Given the description of an element on the screen output the (x, y) to click on. 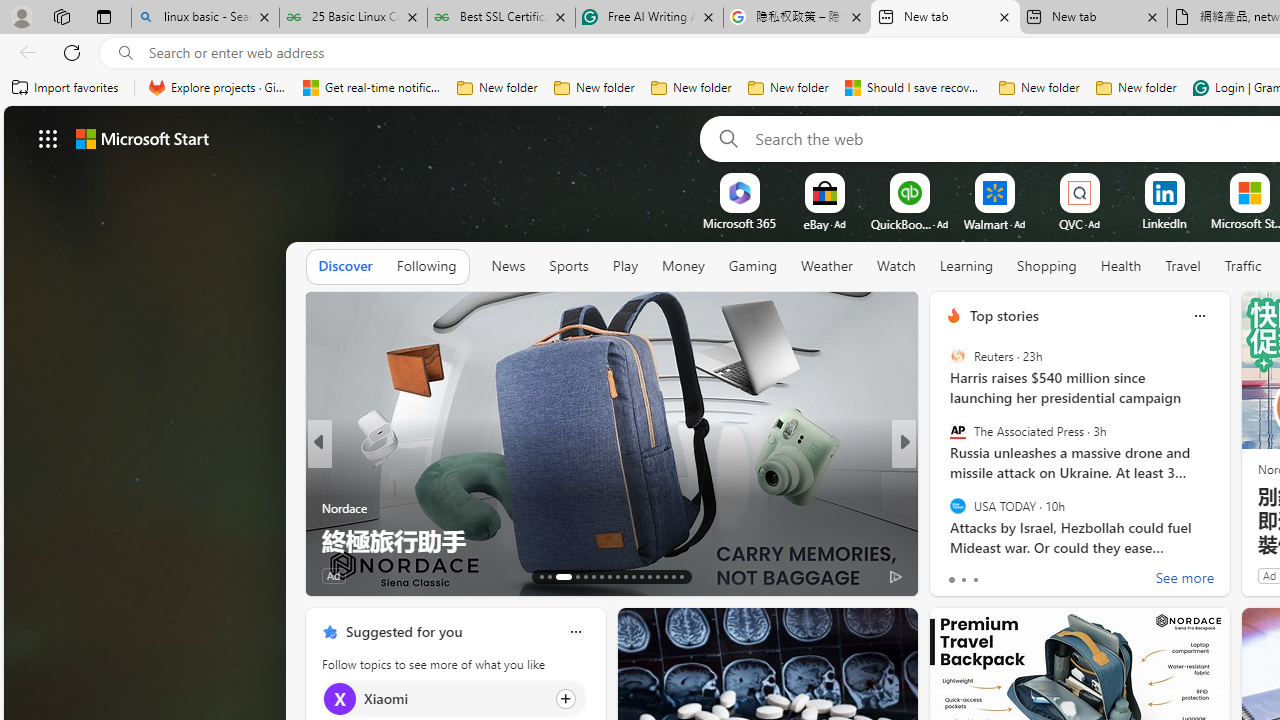
15 Like (956, 574)
AutomationID: tab-23 (632, 576)
Import favorites (65, 88)
linux basic - Search (205, 17)
AutomationID: tab-22 (624, 576)
